Given the description of an element on the screen output the (x, y) to click on. 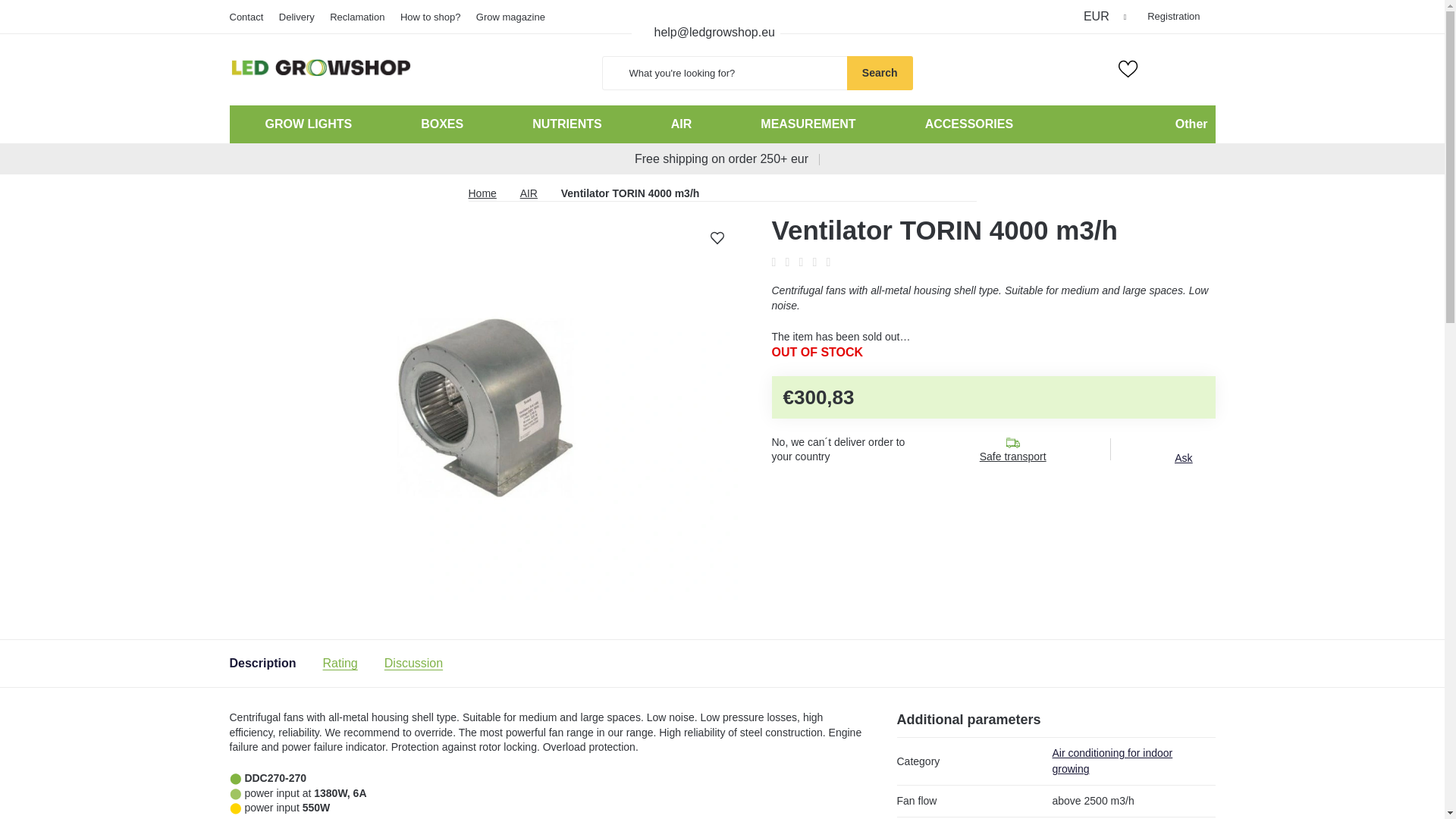
Registration (1173, 16)
How to shop? (430, 16)
Contact (248, 16)
EUR (1105, 16)
Reclamation (356, 16)
GROW LIGHTS (306, 124)
Delivery (296, 16)
Search (879, 73)
Shopping cart (1204, 68)
Grow magazine (510, 16)
Delivery (296, 16)
Reclamation (356, 16)
Grow magazine (510, 16)
Contact (248, 16)
How to shop? (430, 16)
